Given the description of an element on the screen output the (x, y) to click on. 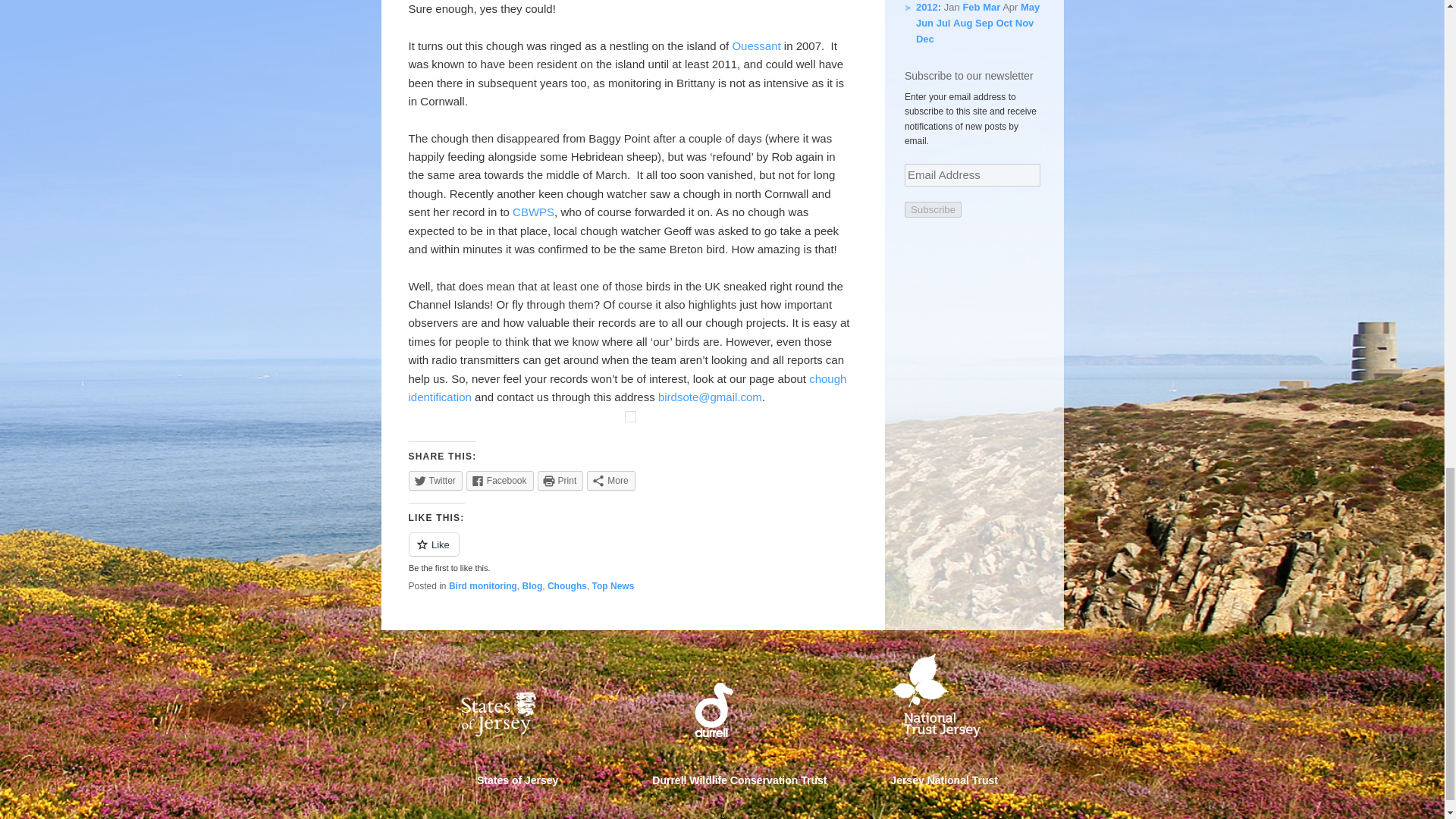
Click to share on Facebook (499, 480)
Seen a chough? (626, 387)
Click to share on Twitter (434, 480)
Click to print (560, 480)
